Given the description of an element on the screen output the (x, y) to click on. 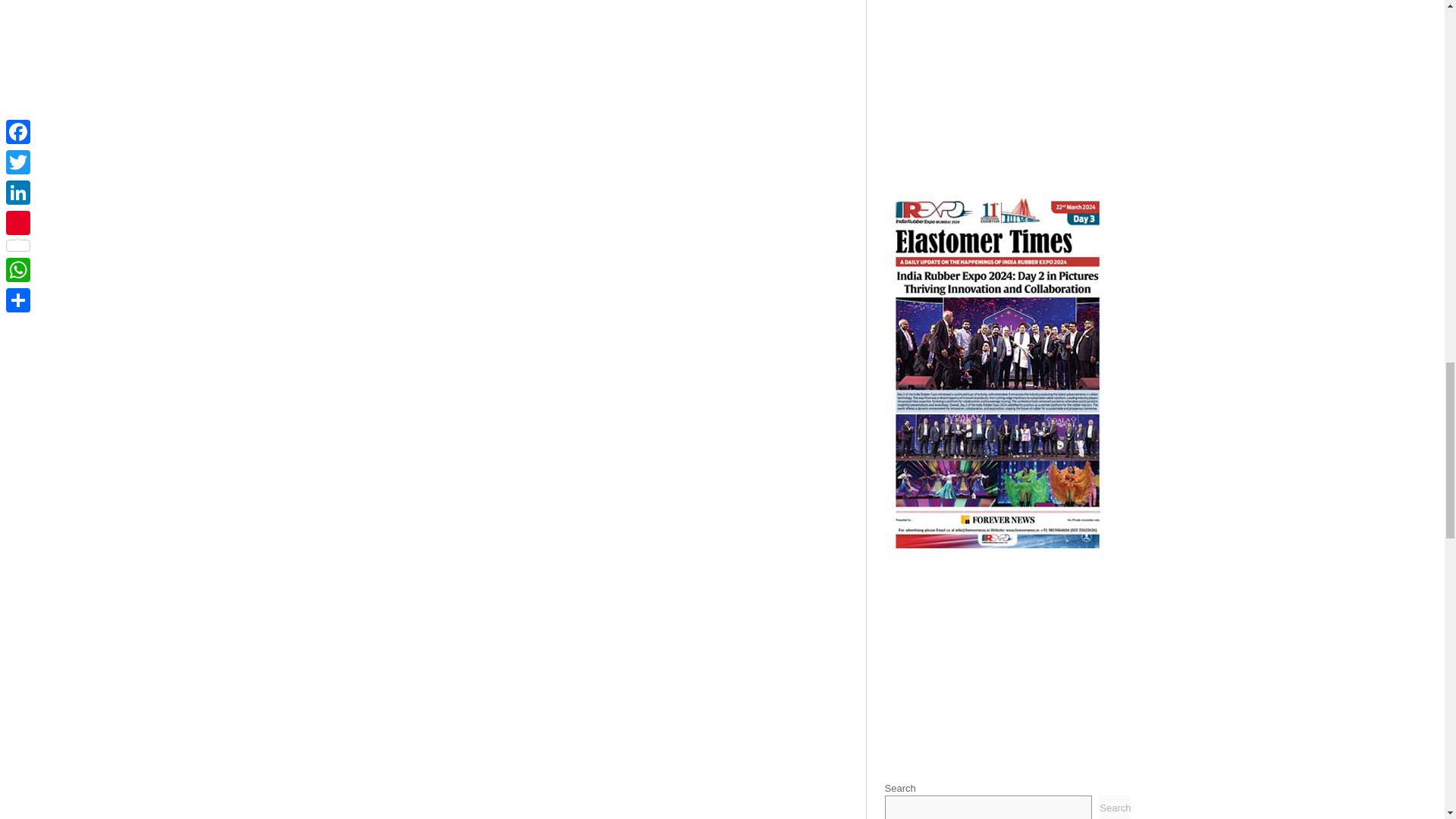
Advertisement (1007, 81)
Advertisement (1007, 659)
Search (1115, 807)
